Given the description of an element on the screen output the (x, y) to click on. 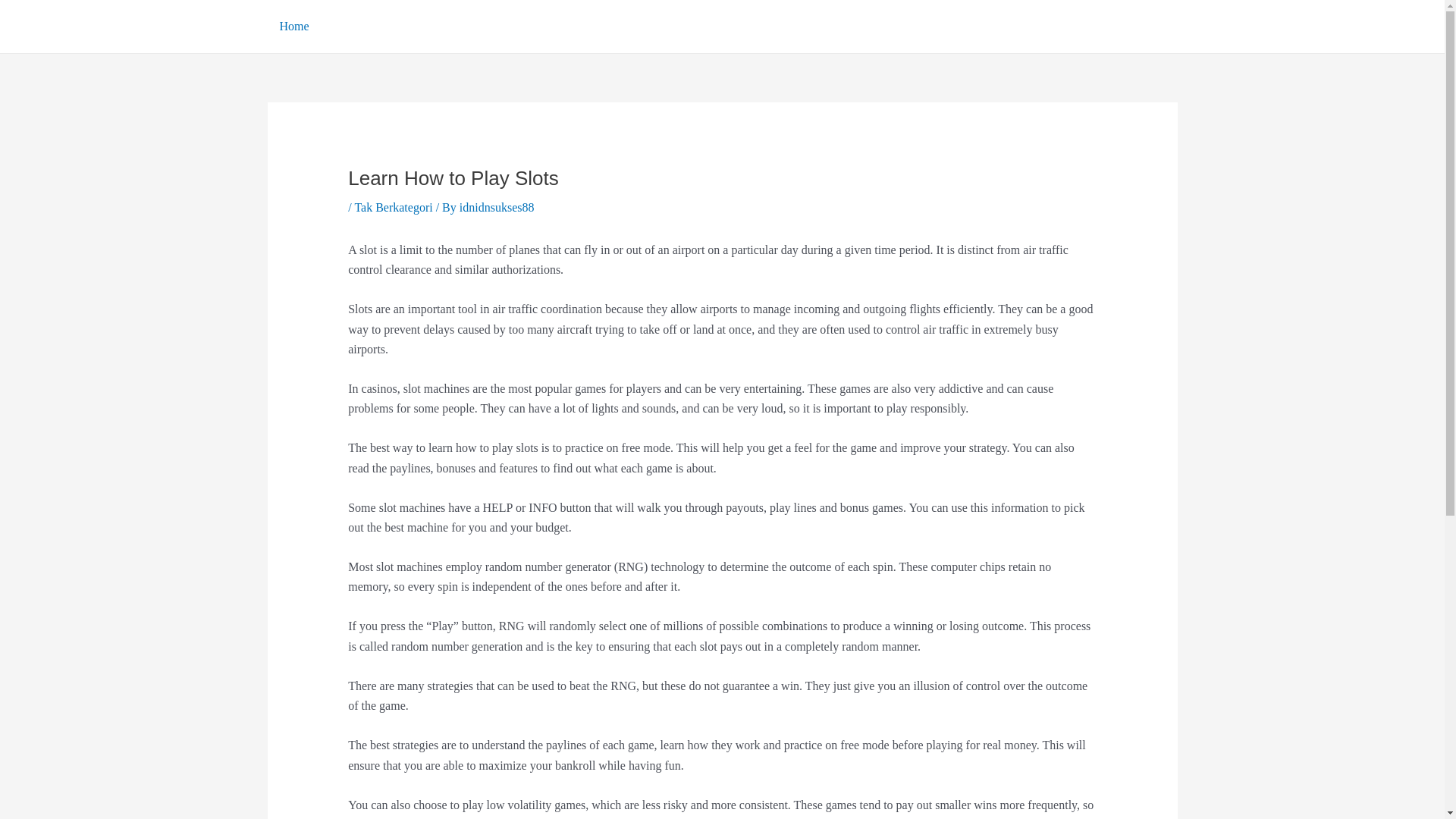
View all posts by idnidnsukses88 (497, 206)
idnidnsukses88 (497, 206)
Home (293, 26)
Tak Berkategori (392, 206)
